Given the description of an element on the screen output the (x, y) to click on. 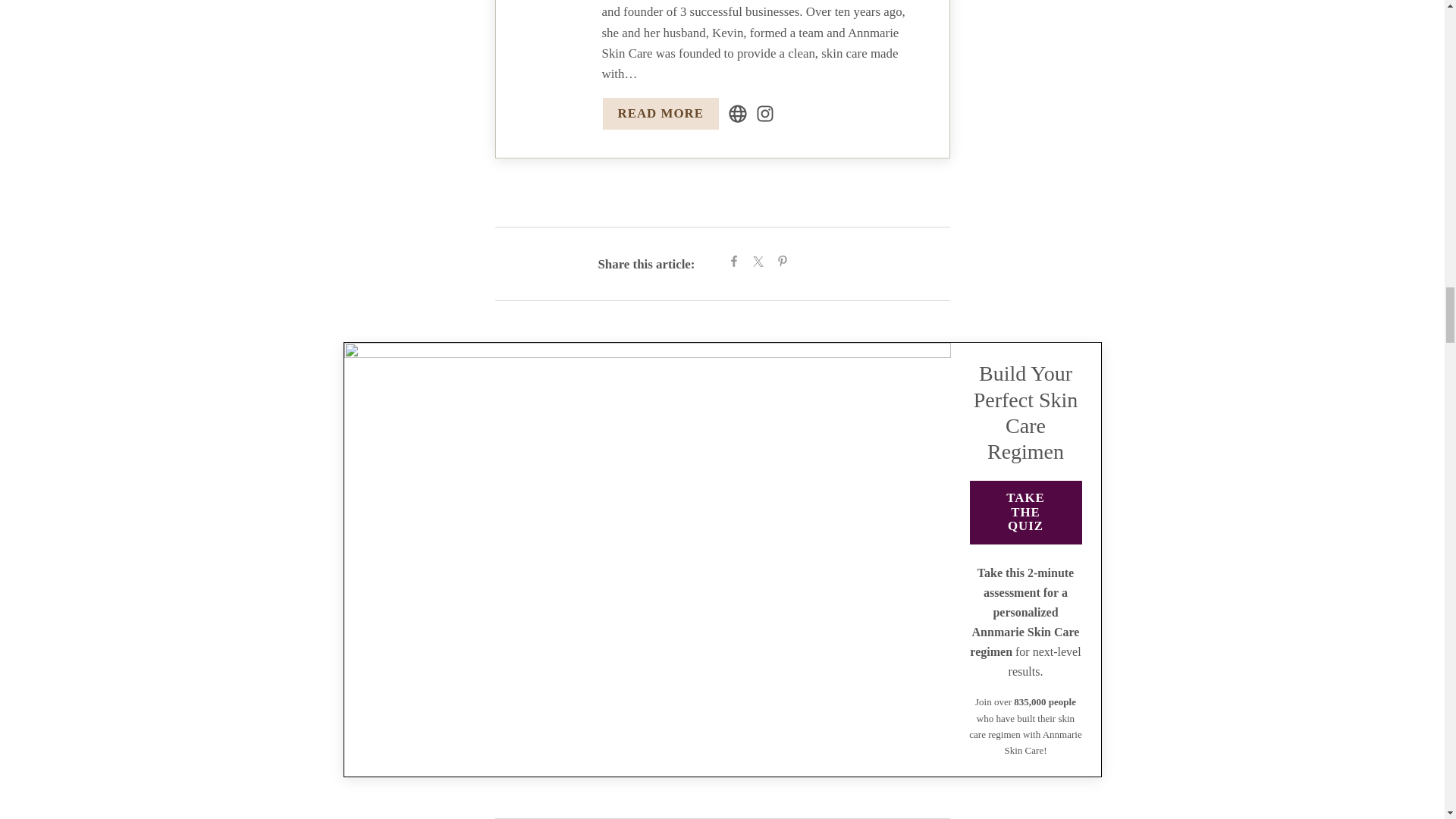
Share on Facebook (733, 263)
Share on Twitter (757, 263)
Share on Pinterest (782, 263)
